Given the description of an element on the screen output the (x, y) to click on. 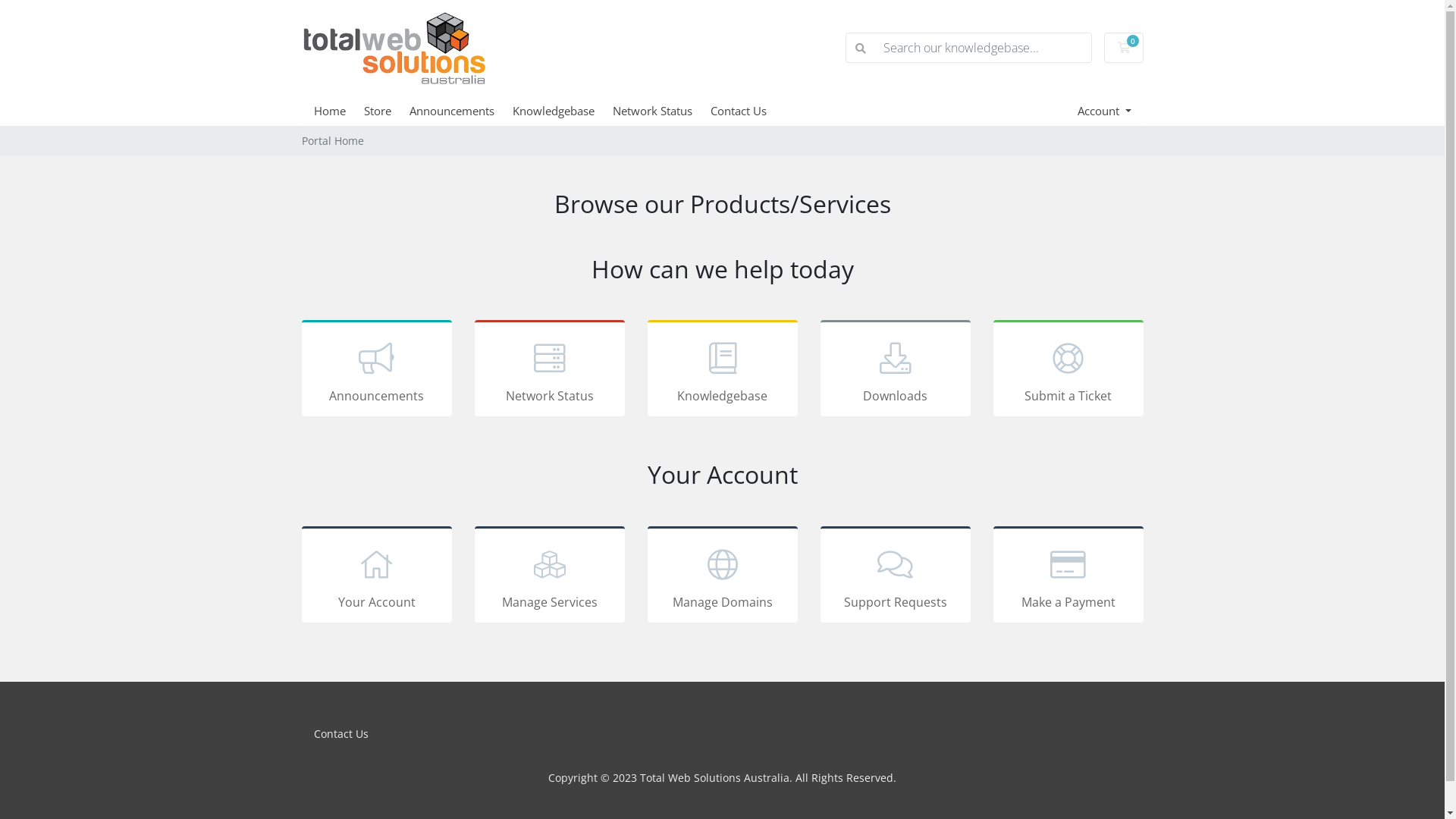
Announcements Element type: text (376, 368)
Downloads Element type: text (895, 368)
Contact Us Element type: text (340, 733)
Network Status Element type: text (549, 368)
Manage Services Element type: text (549, 574)
Support Requests Element type: text (895, 574)
Knowledgebase Element type: text (722, 368)
Account Element type: text (1104, 110)
Submit a Ticket Element type: text (1068, 368)
Network Status Element type: text (661, 110)
Your Account Element type: text (376, 574)
Home Element type: text (338, 110)
Manage Domains Element type: text (722, 574)
Store Element type: text (386, 110)
Contact Us Element type: text (746, 110)
Knowledgebase Element type: text (562, 110)
0
Shopping Cart Element type: text (1123, 47)
Announcements Element type: text (460, 110)
Make a Payment Element type: text (1068, 574)
